Given the description of an element on the screen output the (x, y) to click on. 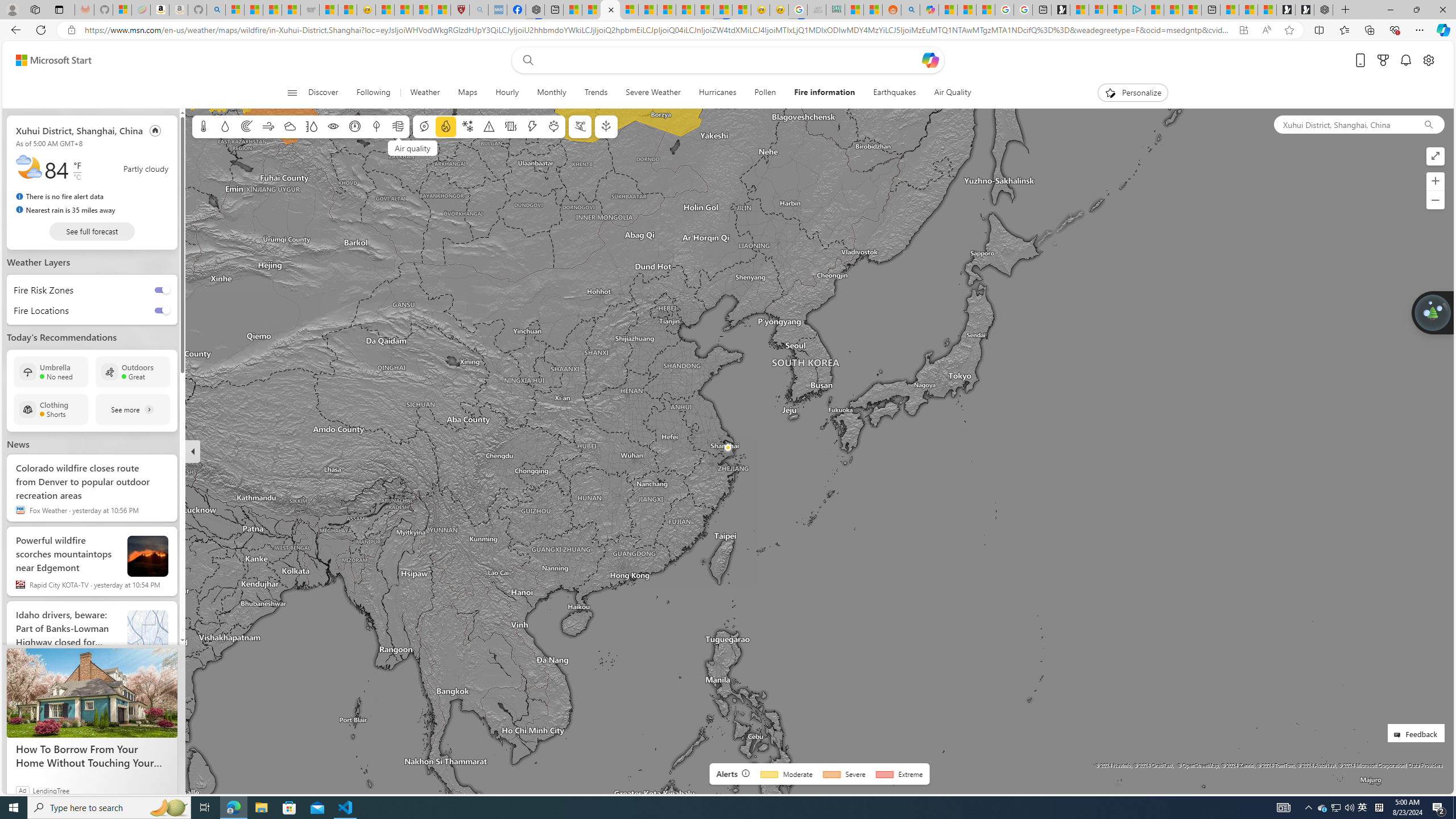
Air Quality (947, 92)
Humidity (311, 126)
Earthquakes (894, 92)
Winter weather (467, 126)
Outdoors Great (133, 371)
